Given the description of an element on the screen output the (x, y) to click on. 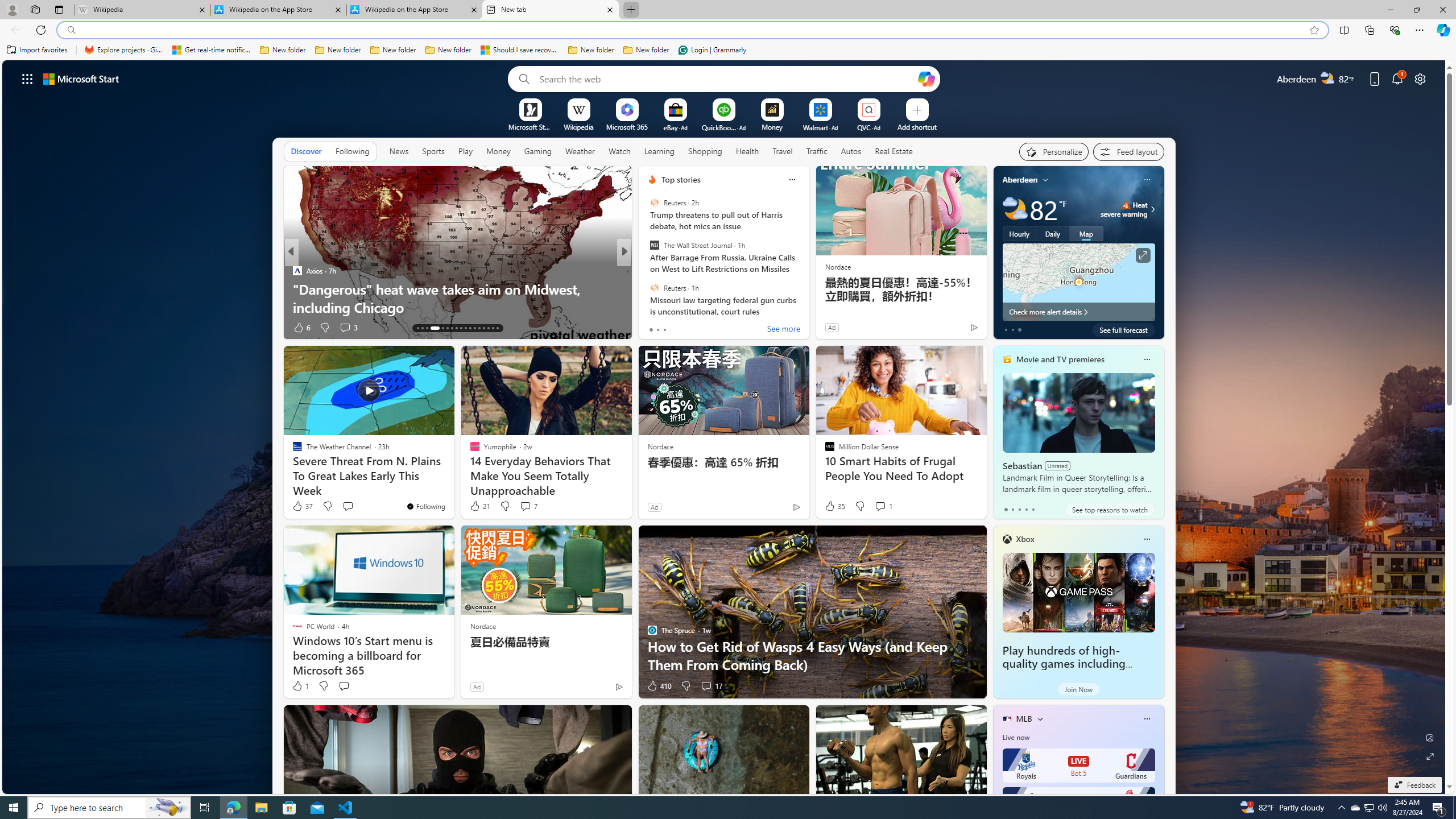
Network Products (807, 307)
View comments 430 Comment (6, 327)
35 Like (834, 505)
Homes & Gardens (647, 270)
New folder (646, 49)
Larger map  (1077, 282)
tab-1 (1012, 509)
15 Like (652, 327)
4 Frugal Secrets I Learned From My Grandparents (457, 307)
